Given the description of an element on the screen output the (x, y) to click on. 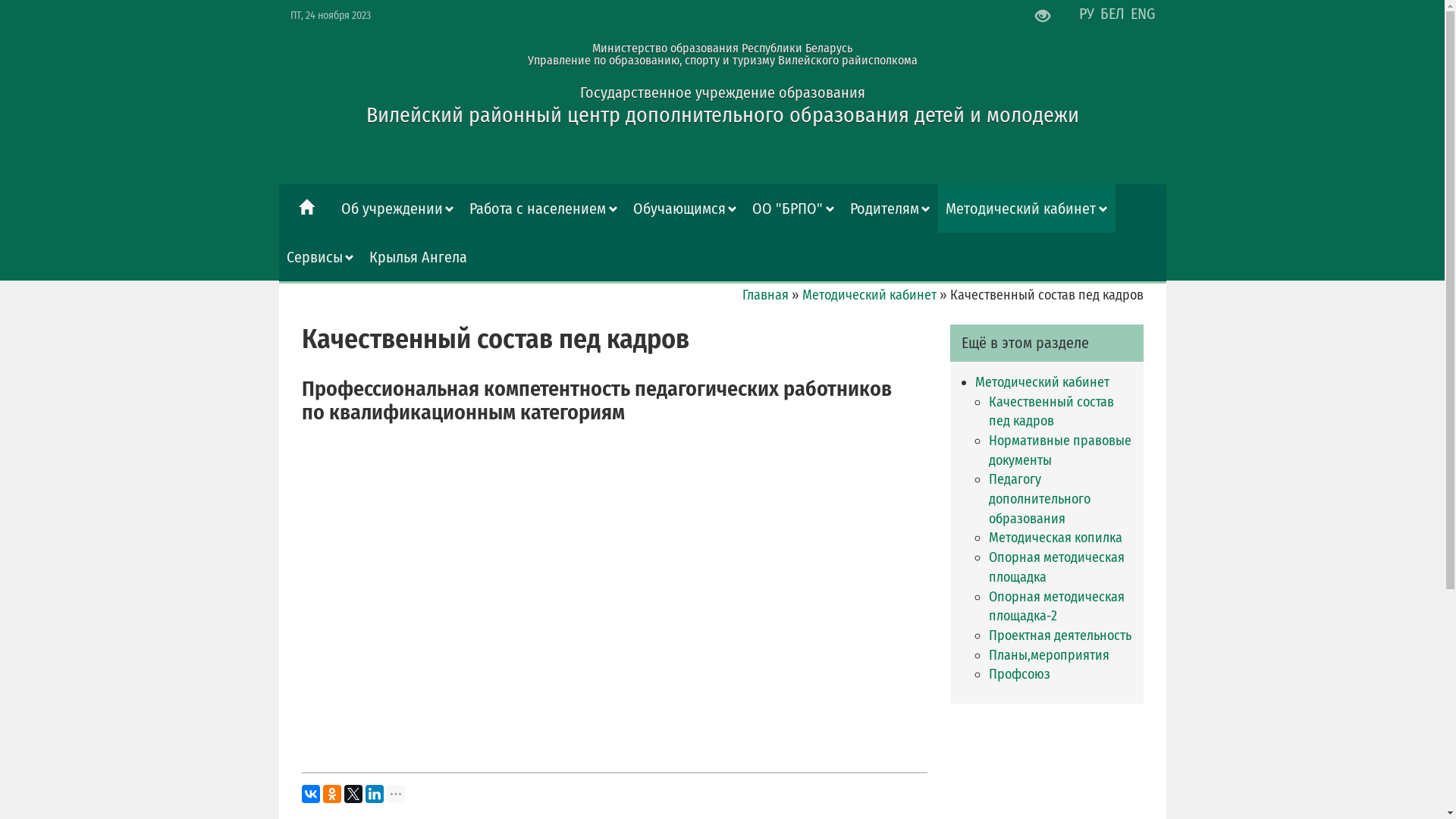
LinkedIn Element type: hover (374, 793)
Twitter Element type: hover (353, 793)
ENG Element type: text (1141, 13)
